Given the description of an element on the screen output the (x, y) to click on. 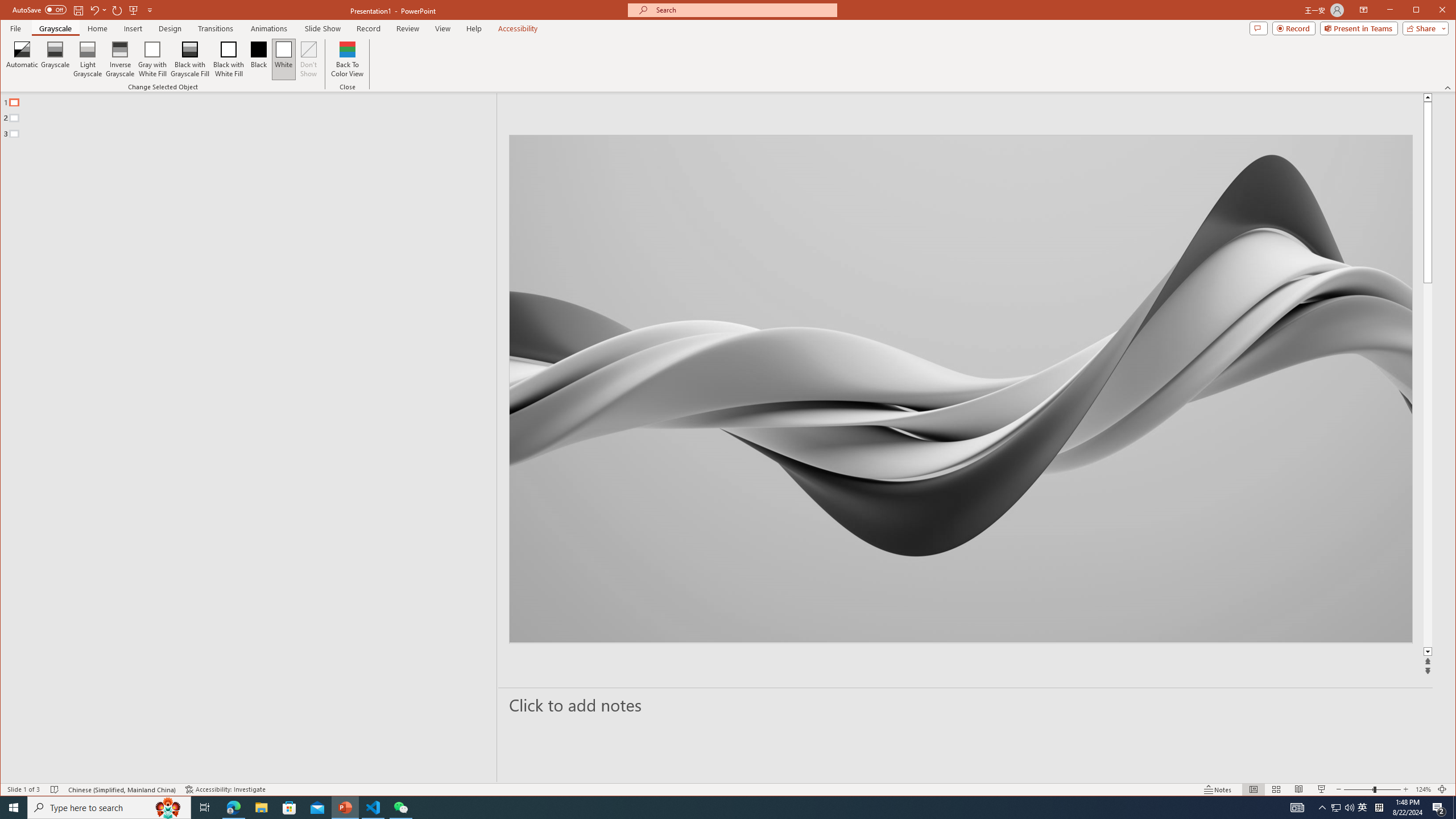
Zoom 124% (1422, 789)
WeChat - 1 running window (400, 807)
Don't Show (308, 59)
